Given the description of an element on the screen output the (x, y) to click on. 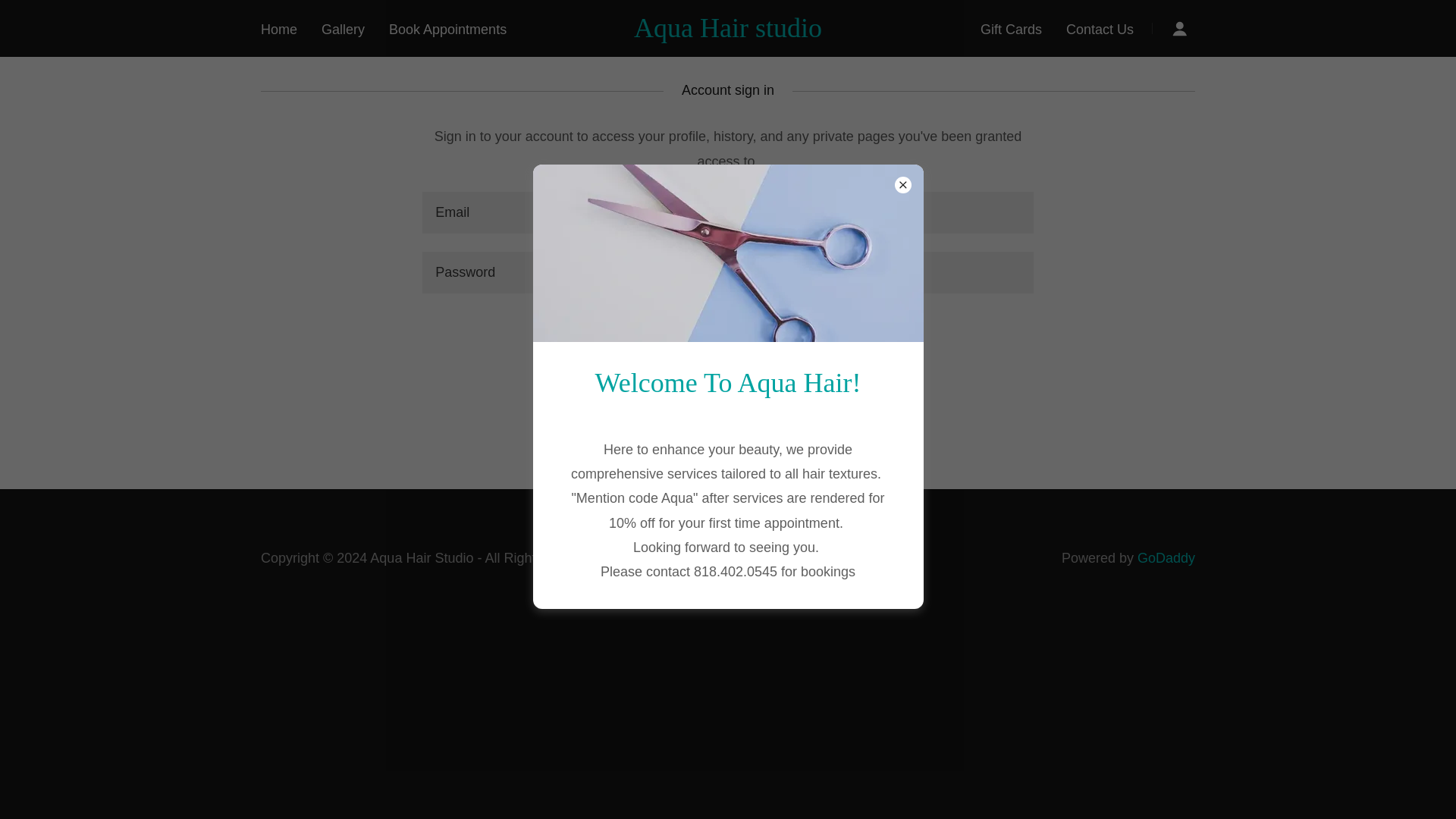
Aqua Hair studio (727, 32)
Gift Cards (1010, 28)
Aqua Hair studio (727, 32)
Sign in (727, 335)
Contact Us (1099, 28)
Reset password (727, 382)
Book Appointments (447, 28)
Gallery (343, 28)
Home (278, 28)
Create account. (777, 433)
